Given the description of an element on the screen output the (x, y) to click on. 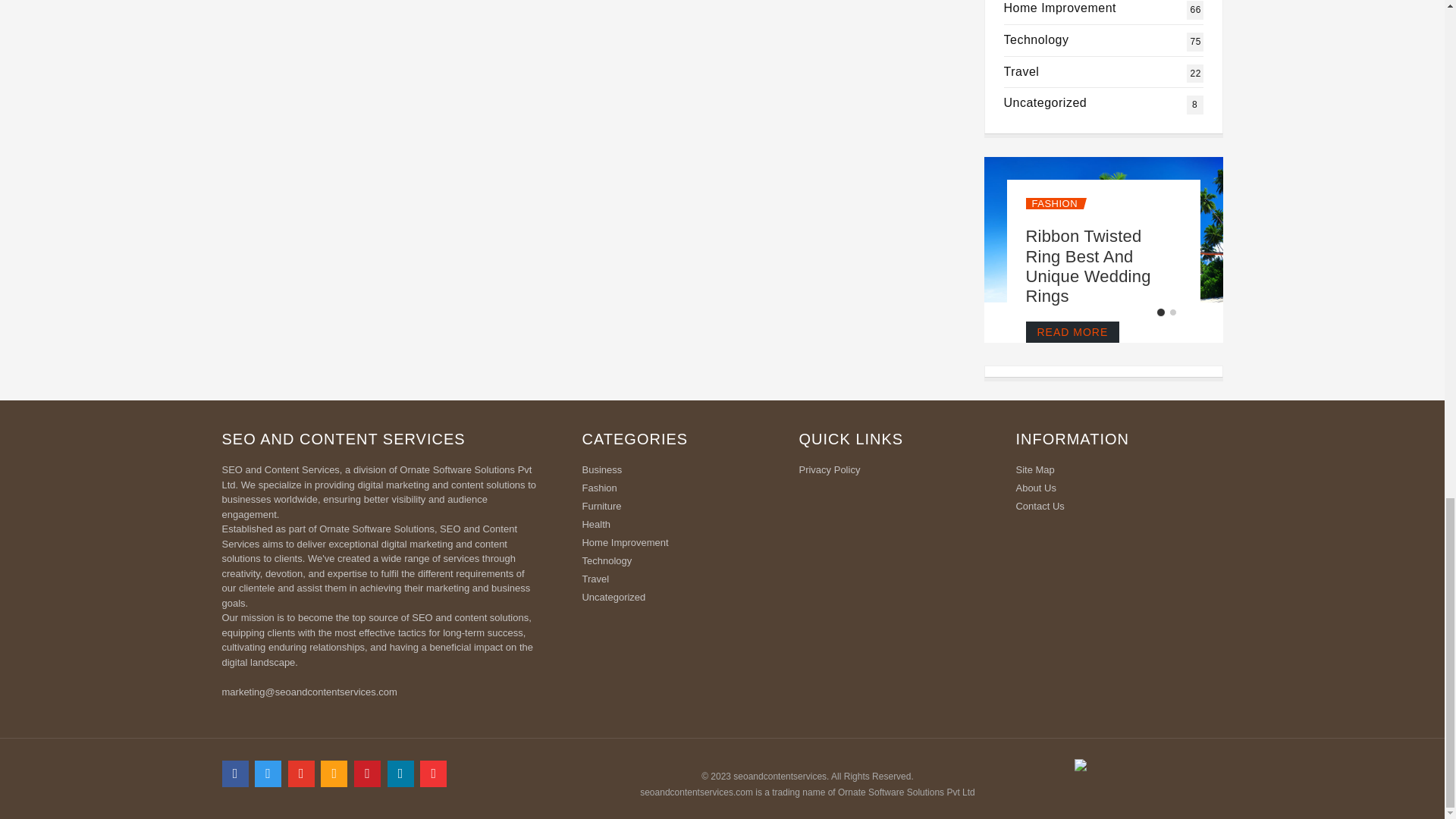
Technology (1036, 39)
Travel (1021, 71)
Ribbon Twisted Ring Best And Unique Wedding Rings (1087, 265)
Fashion (1053, 203)
Business (679, 471)
Furniture (1021, 71)
Home Improvement (679, 507)
